Given the description of an element on the screen output the (x, y) to click on. 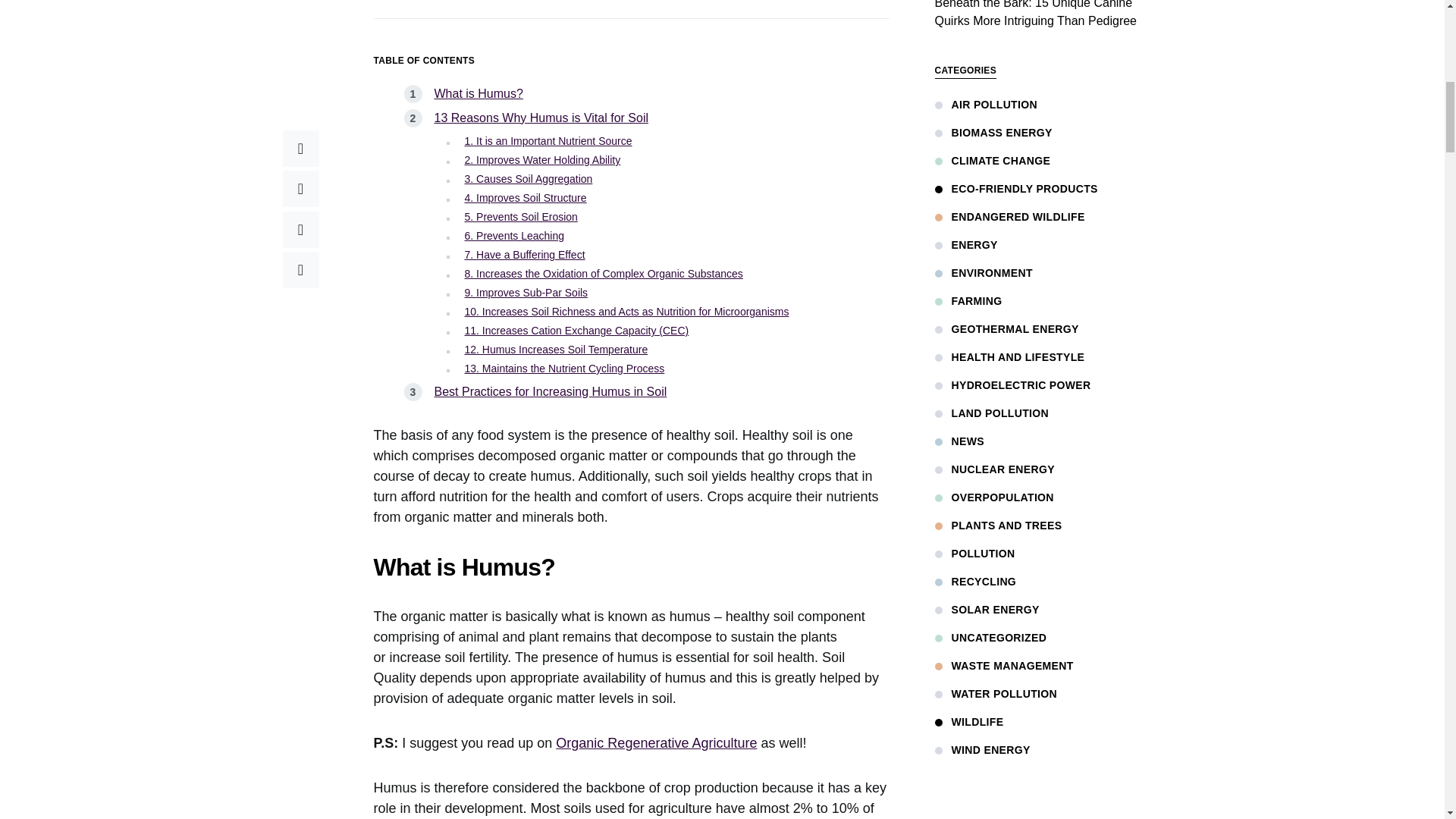
What is Humus? (477, 92)
1. It is an Important Nutrient Source (547, 141)
13 Reasons Why Humus is Vital for Soil (540, 117)
